Given the description of an element on the screen output the (x, y) to click on. 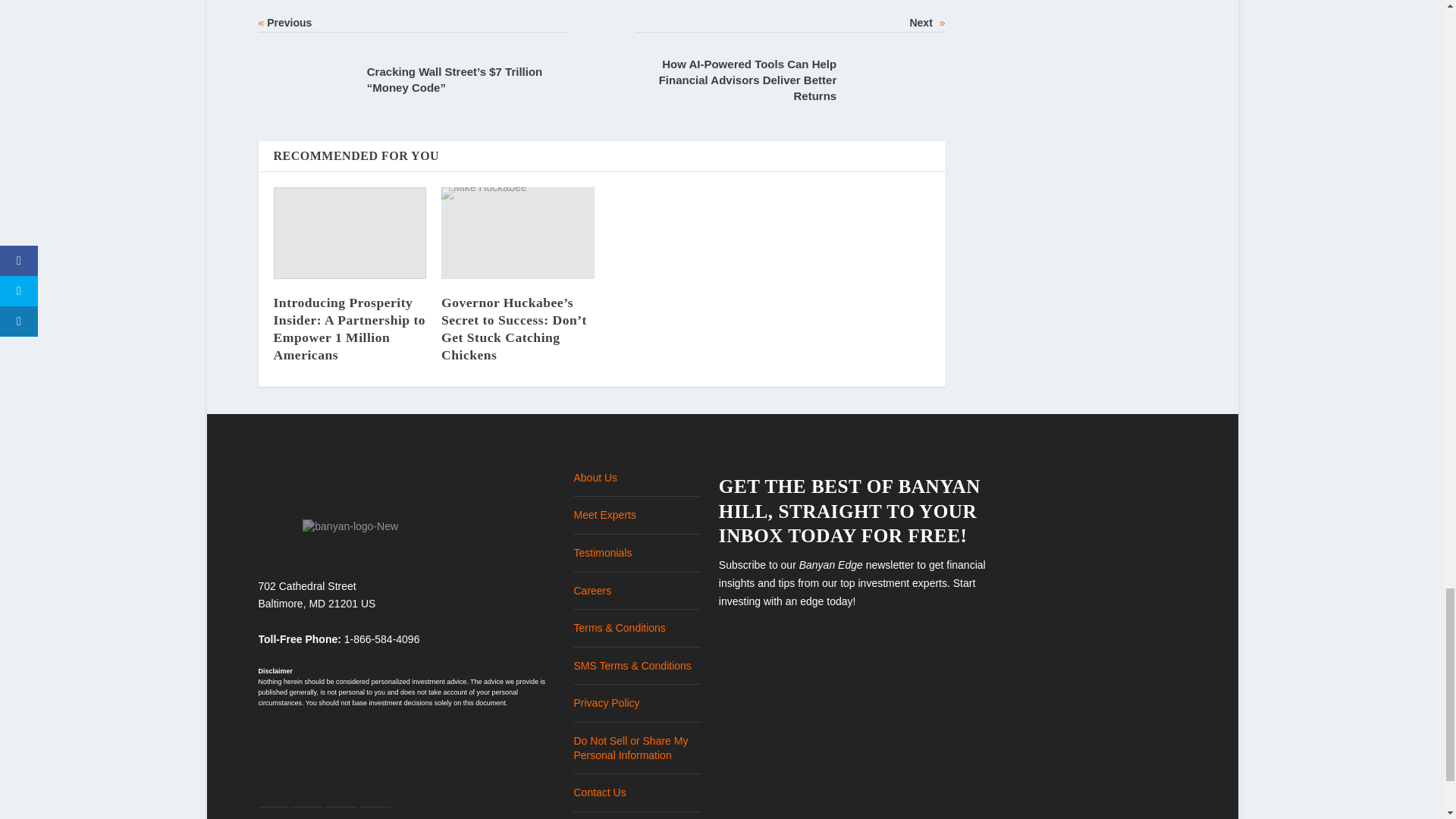
1-866-584-4096 (381, 639)
Meet Experts (603, 514)
About Us (595, 477)
